Given the description of an element on the screen output the (x, y) to click on. 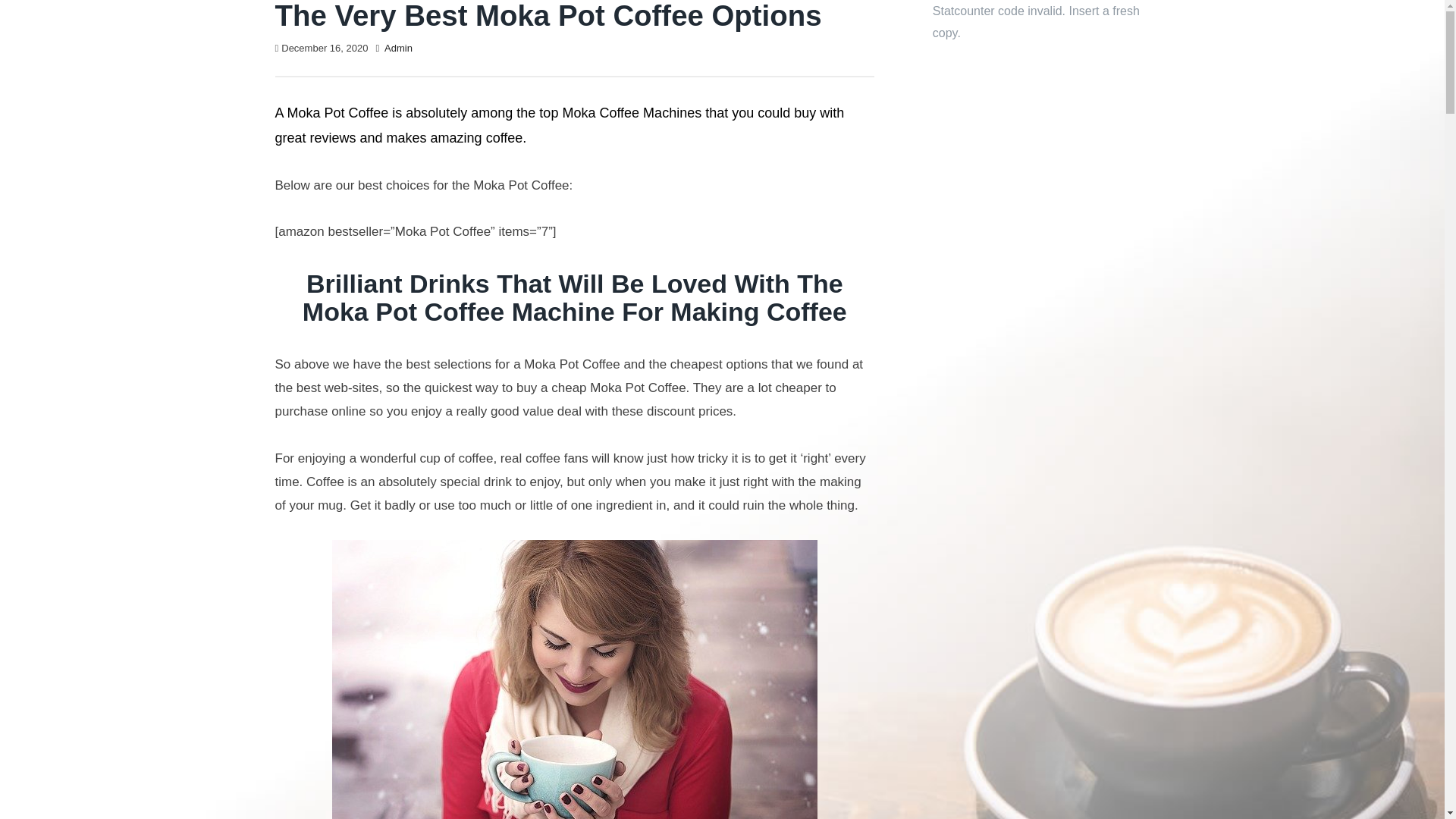
December 16, 2020 (324, 48)
Admin (398, 48)
